Given the description of an element on the screen output the (x, y) to click on. 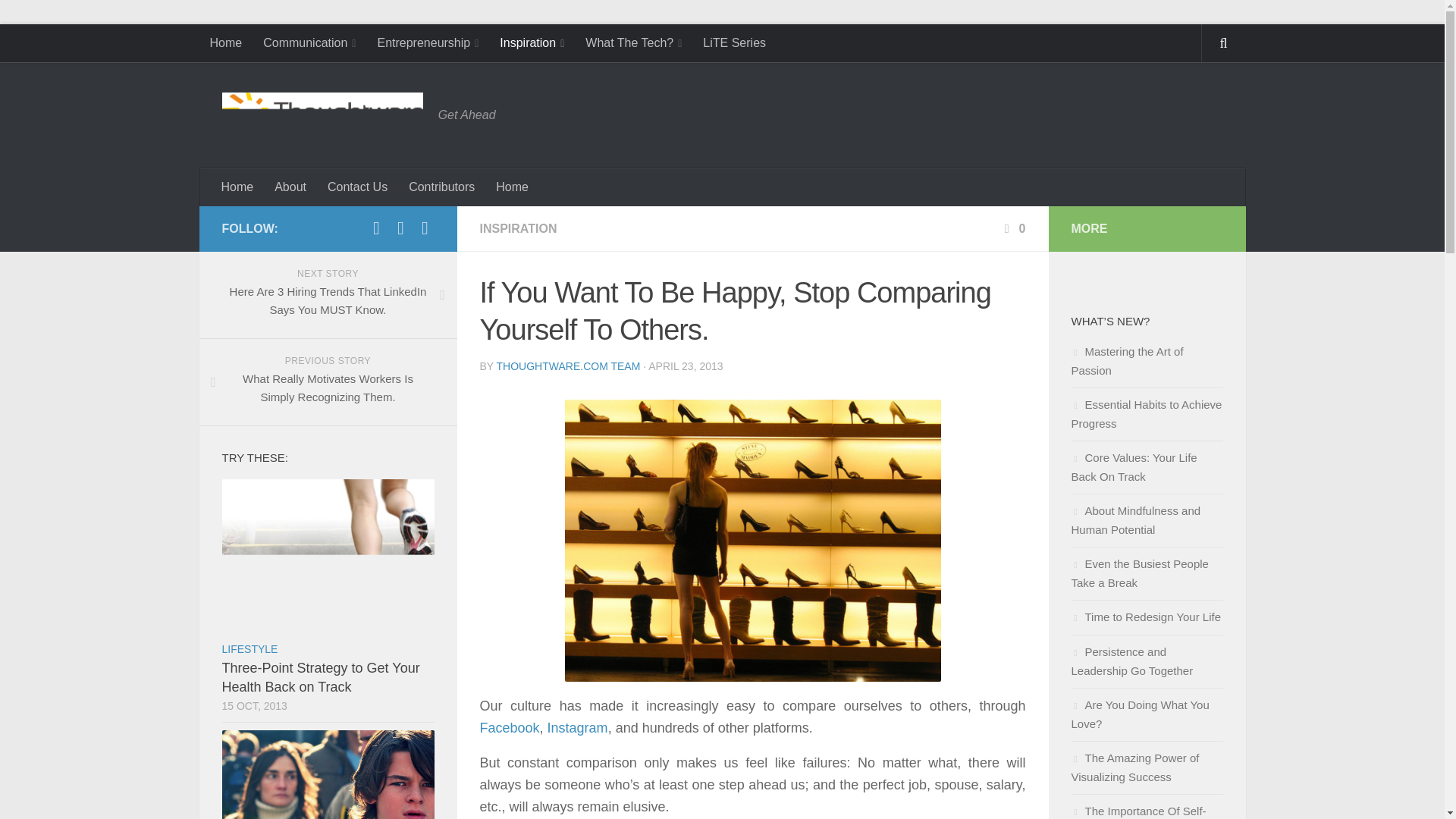
LiTE Series (734, 43)
Home (237, 187)
Communication (308, 43)
About (290, 187)
INSPIRATION (517, 228)
Contact Us (357, 187)
What The Tech? (634, 43)
Contributors (440, 187)
Entrepreneurship (427, 43)
Instagram (577, 727)
